Given the description of an element on the screen output the (x, y) to click on. 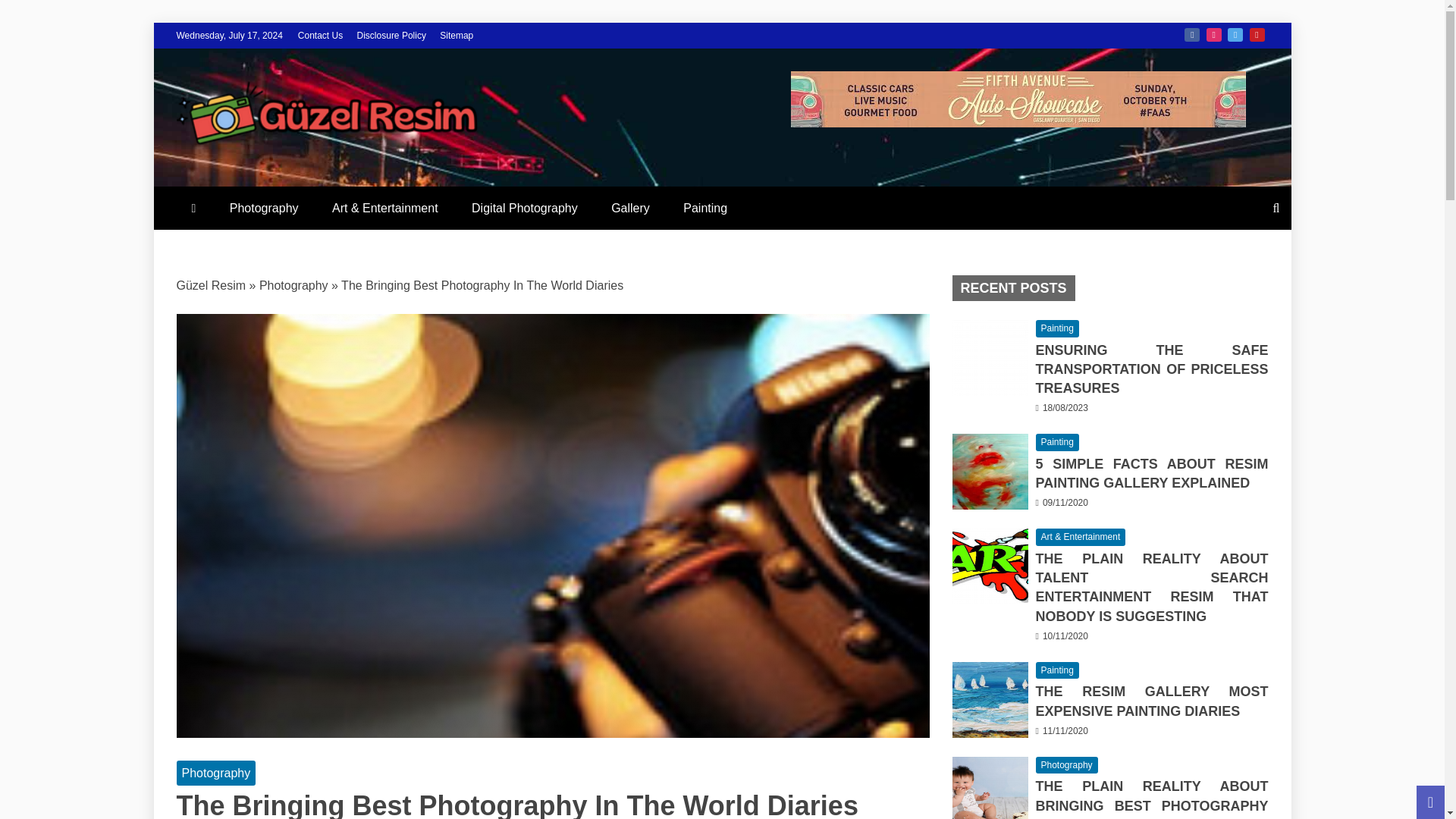
The Resim Gallery Most Expensive Painting Diaries (989, 699)
Pinterest (1257, 34)
Gallery (630, 208)
5 Simple Facts About Resim Painting Gallery Explained (989, 471)
Disclosure Policy (391, 35)
Photography (264, 208)
Photography (294, 285)
Twitter (1235, 34)
Contact Us (320, 35)
Digital Photography (524, 208)
Sitemap (456, 35)
Photography (216, 772)
